Given the description of an element on the screen output the (x, y) to click on. 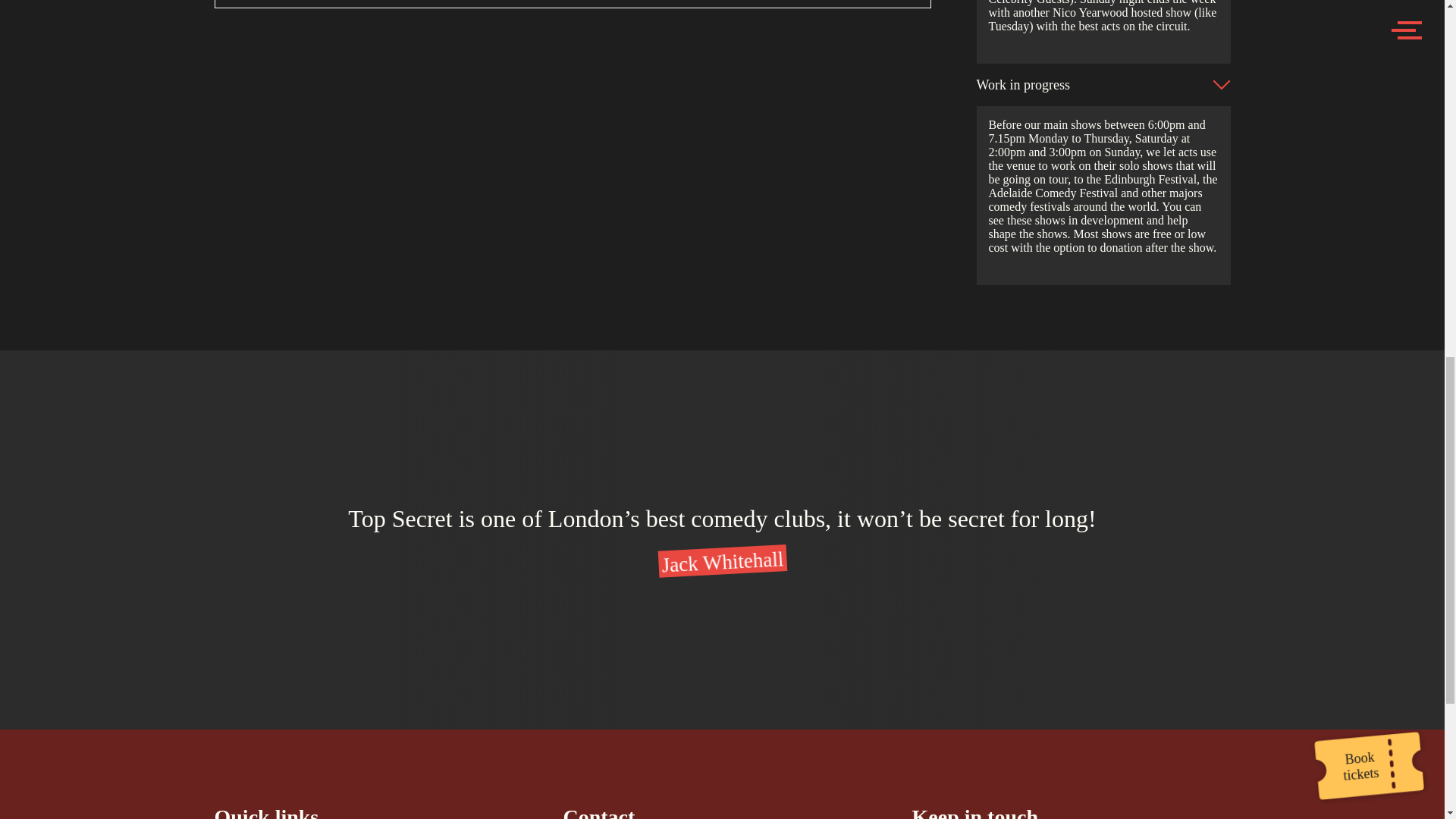
Work in progress (1103, 84)
